Given the description of an element on the screen output the (x, y) to click on. 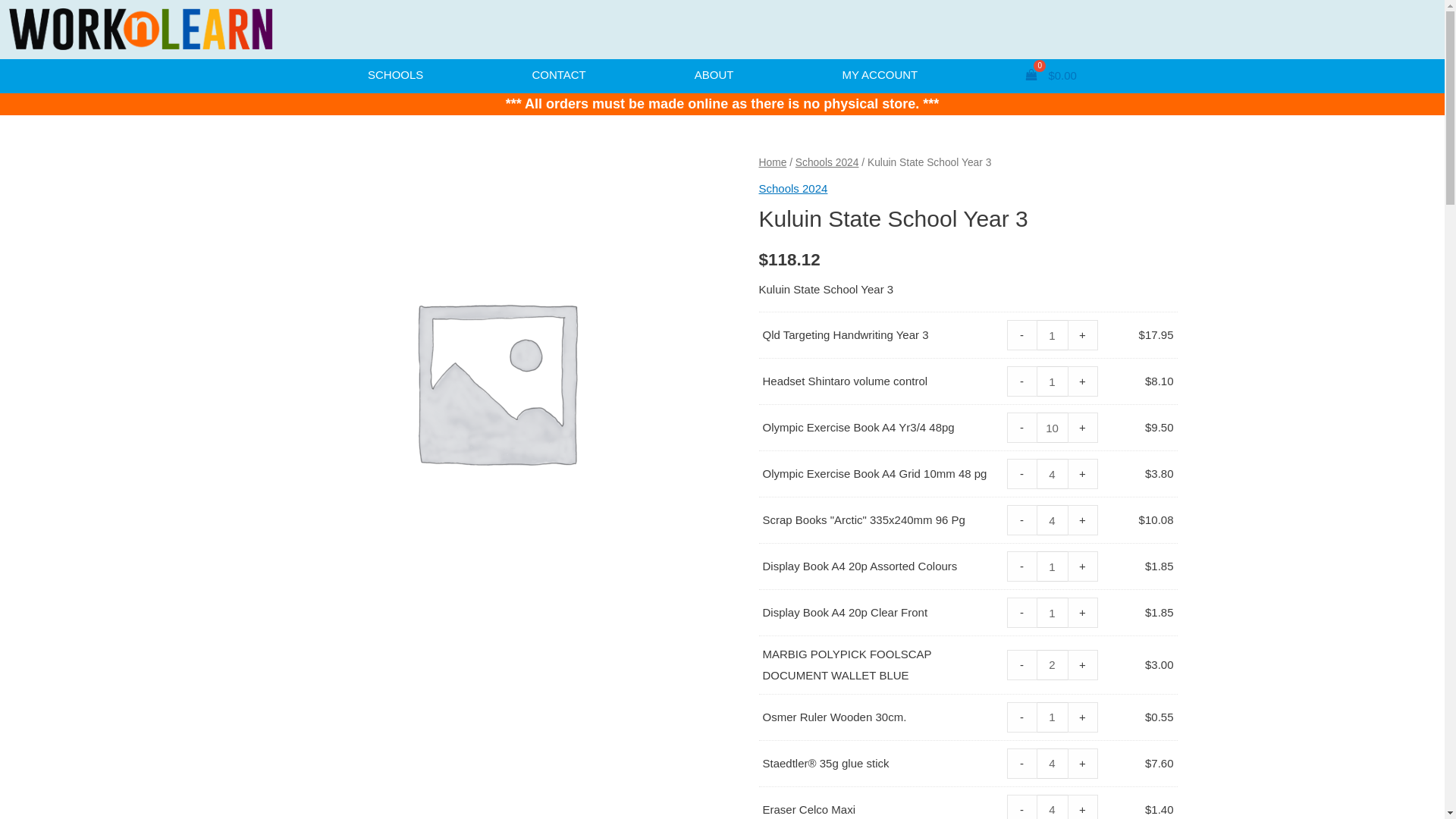
CONTACT Element type: text (558, 75)
Qty Element type: hover (1052, 566)
Qty Element type: hover (1052, 335)
Qty Element type: hover (1052, 717)
Qty Element type: hover (1052, 763)
Qty Element type: hover (1052, 381)
Schools 2024 Element type: text (792, 188)
MY ACCOUNT Element type: text (879, 75)
ABOUT Element type: text (713, 75)
$0.00 Element type: text (1051, 75)
Schools 2024 Element type: text (827, 161)
Qty Element type: hover (1052, 427)
SCHOOLS Element type: text (395, 75)
Qty Element type: hover (1052, 473)
Qty Element type: hover (1052, 612)
Home Element type: text (772, 161)
Qty Element type: hover (1052, 664)
Qty Element type: hover (1052, 520)
